Given the description of an element on the screen output the (x, y) to click on. 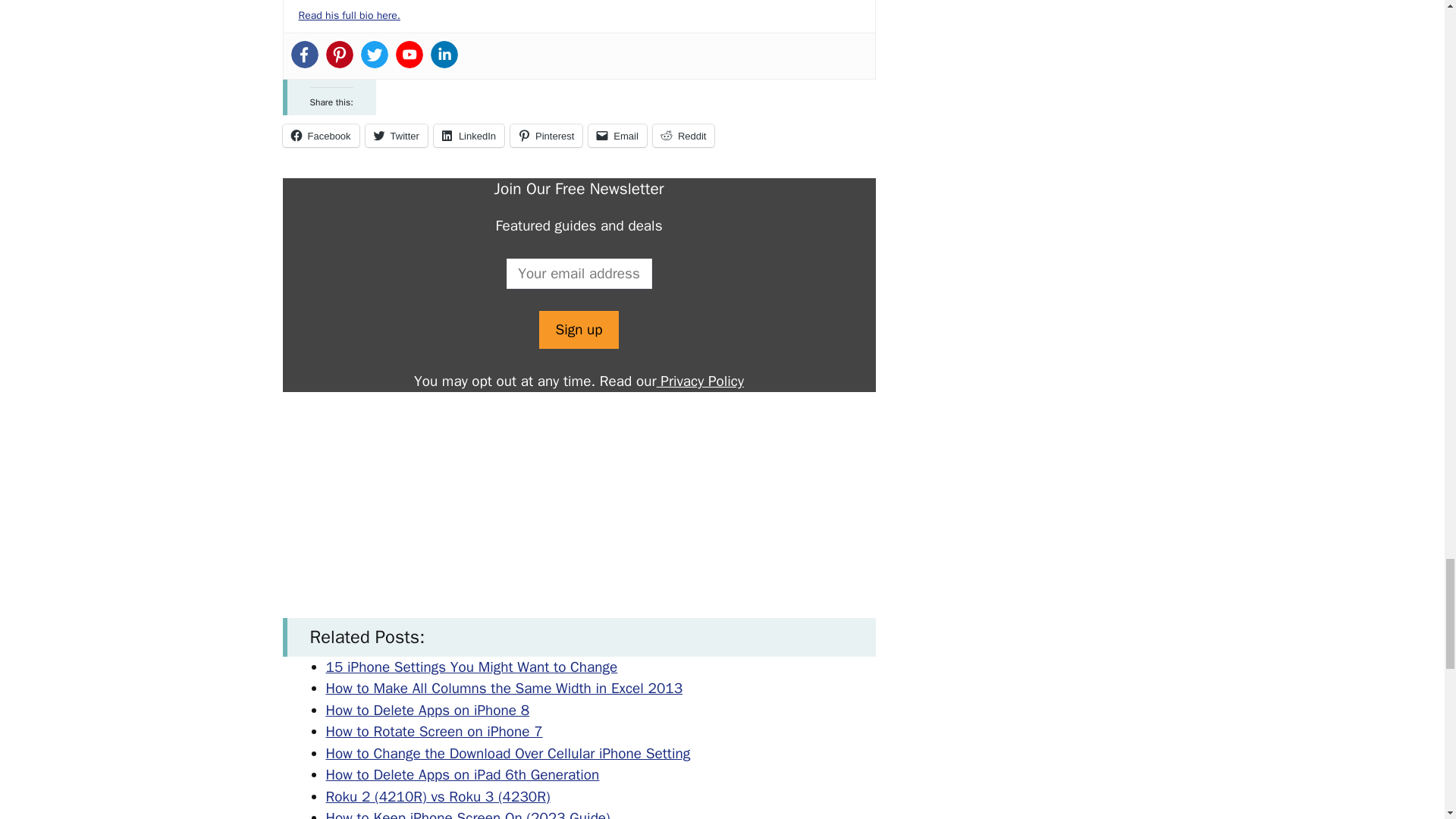
Privacy Policy (700, 381)
LinkedIn (468, 135)
How to Change the Download Over Cellular iPhone Setting (508, 753)
Email (617, 135)
Pinterest (546, 135)
How to Rotate Screen on iPhone 7 (434, 731)
Read his full bio here. (349, 15)
15 iPhone Settings You Might Want to Change (471, 667)
How to Delete Apps on iPad 6th Generation (462, 774)
Reddit (683, 135)
How to Make All Columns the Same Width in Excel 2013 (504, 688)
Sign up (577, 330)
Twitter (396, 135)
Facebook (320, 135)
Sign up (577, 330)
